Given the description of an element on the screen output the (x, y) to click on. 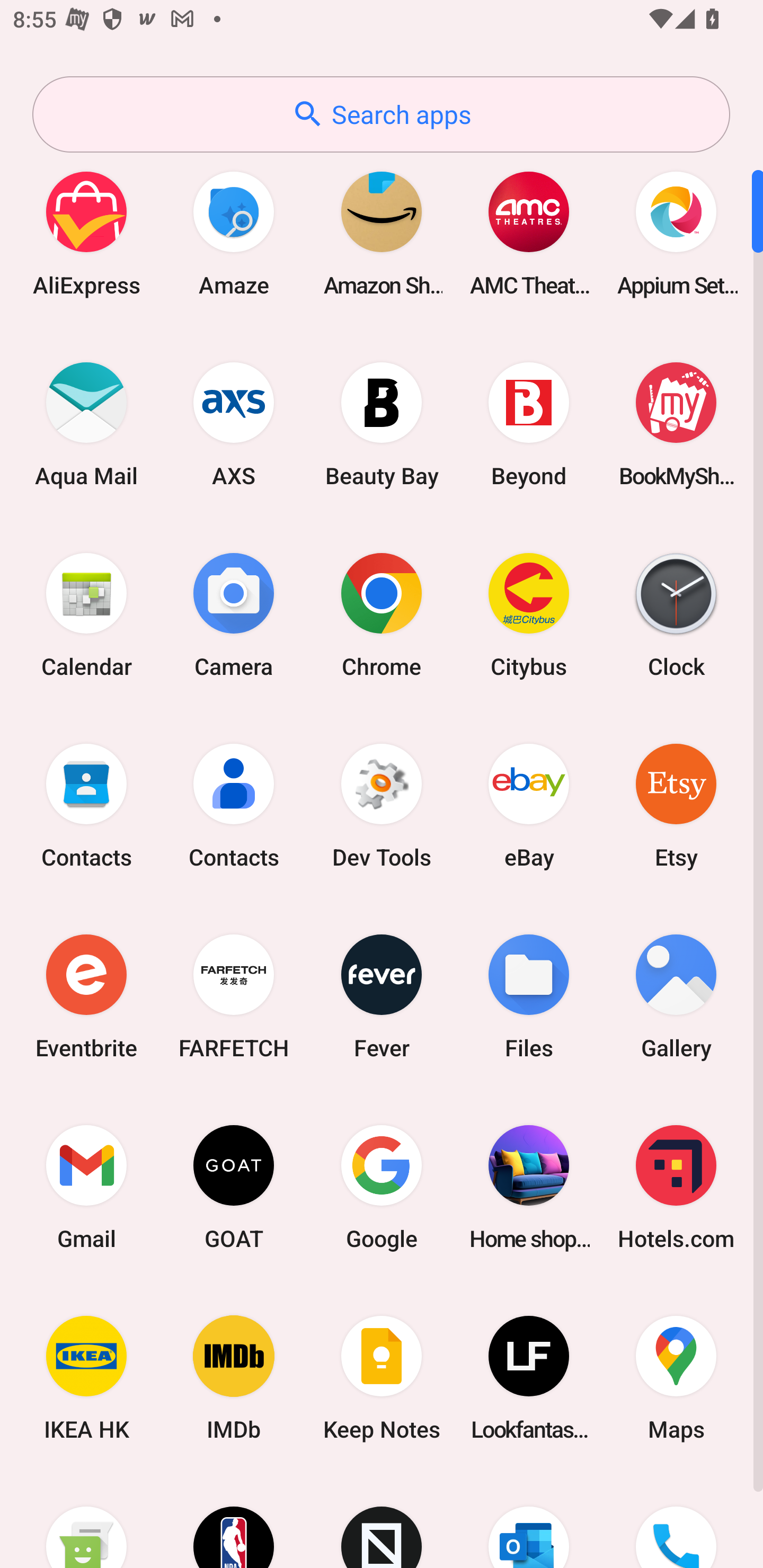
  Search apps (381, 114)
AliExpress (86, 233)
Amaze (233, 233)
Amazon Shopping (381, 233)
AMC Theatres (528, 233)
Appium Settings (676, 233)
Aqua Mail (86, 424)
AXS (233, 424)
Beauty Bay (381, 424)
Beyond (528, 424)
BookMyShow (676, 424)
Calendar (86, 614)
Camera (233, 614)
Chrome (381, 614)
Citybus (528, 614)
Clock (676, 614)
Contacts (86, 805)
Contacts (233, 805)
Dev Tools (381, 805)
eBay (528, 805)
Etsy (676, 805)
Eventbrite (86, 996)
FARFETCH (233, 996)
Fever (381, 996)
Files (528, 996)
Gallery (676, 996)
Gmail (86, 1186)
GOAT (233, 1186)
Google (381, 1186)
Home shopping (528, 1186)
Hotels.com (676, 1186)
IKEA HK (86, 1377)
IMDb (233, 1377)
Keep Notes (381, 1377)
Lookfantastic (528, 1377)
Maps (676, 1377)
